Given the description of an element on the screen output the (x, y) to click on. 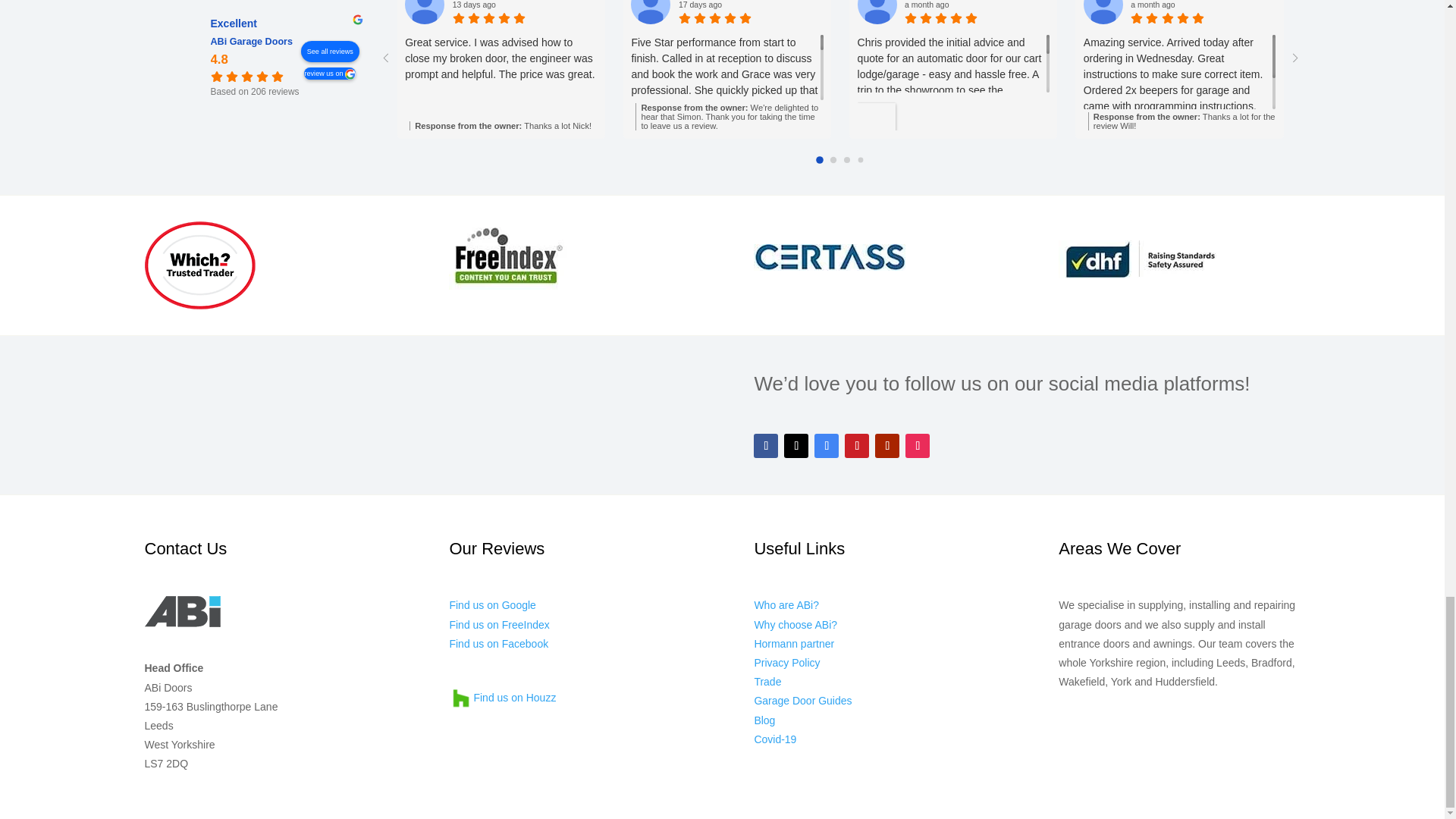
Response from the owner: Thanks a lot for the review Will! (1181, 121)
Response from the owner: Thanks a lot Nick! (502, 125)
